Given the description of an element on the screen output the (x, y) to click on. 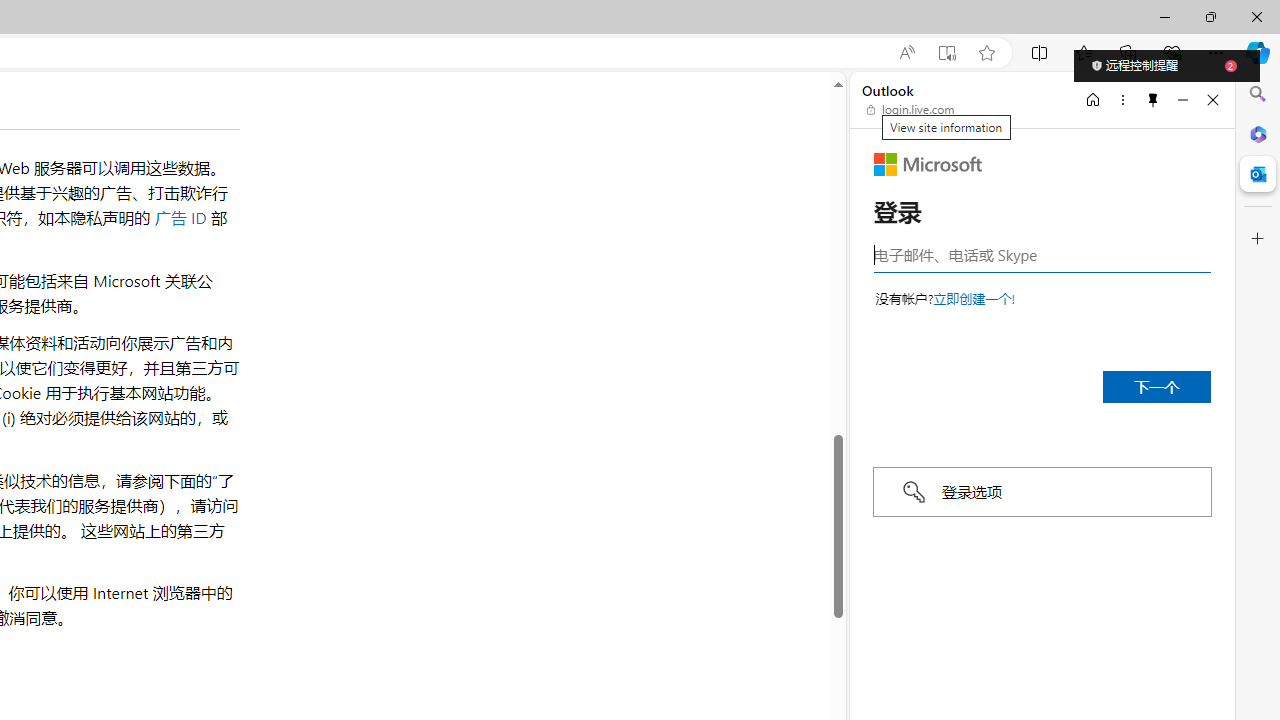
Favorites (1083, 52)
login.live.com (911, 110)
Search (1258, 94)
Read aloud this page (Ctrl+Shift+U) (906, 53)
Customize (1258, 239)
Enter Immersive Reader (F9) (946, 53)
More options (1122, 99)
Microsoft (927, 164)
